Given the description of an element on the screen output the (x, y) to click on. 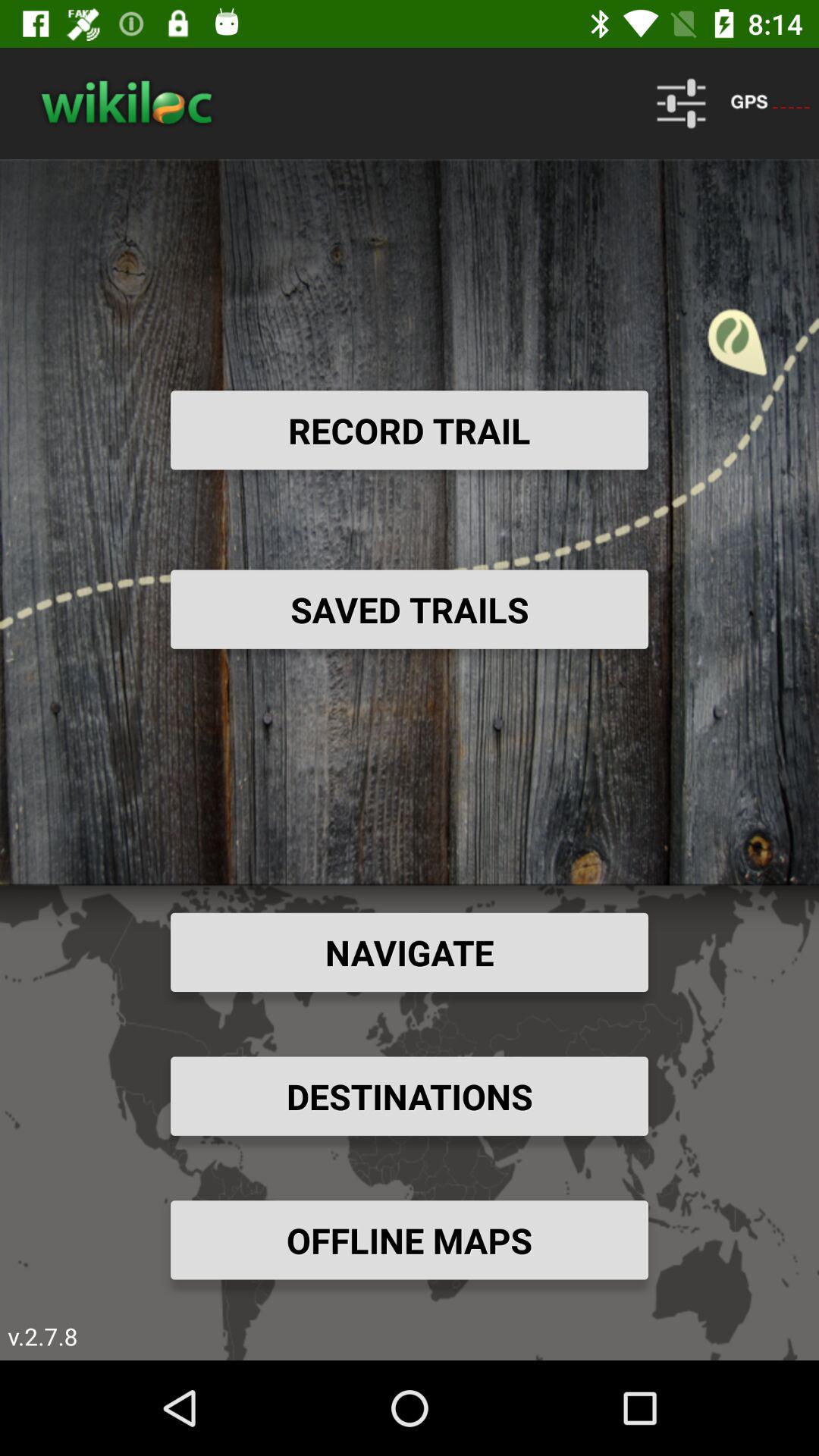
open saved trails (409, 608)
